Given the description of an element on the screen output the (x, y) to click on. 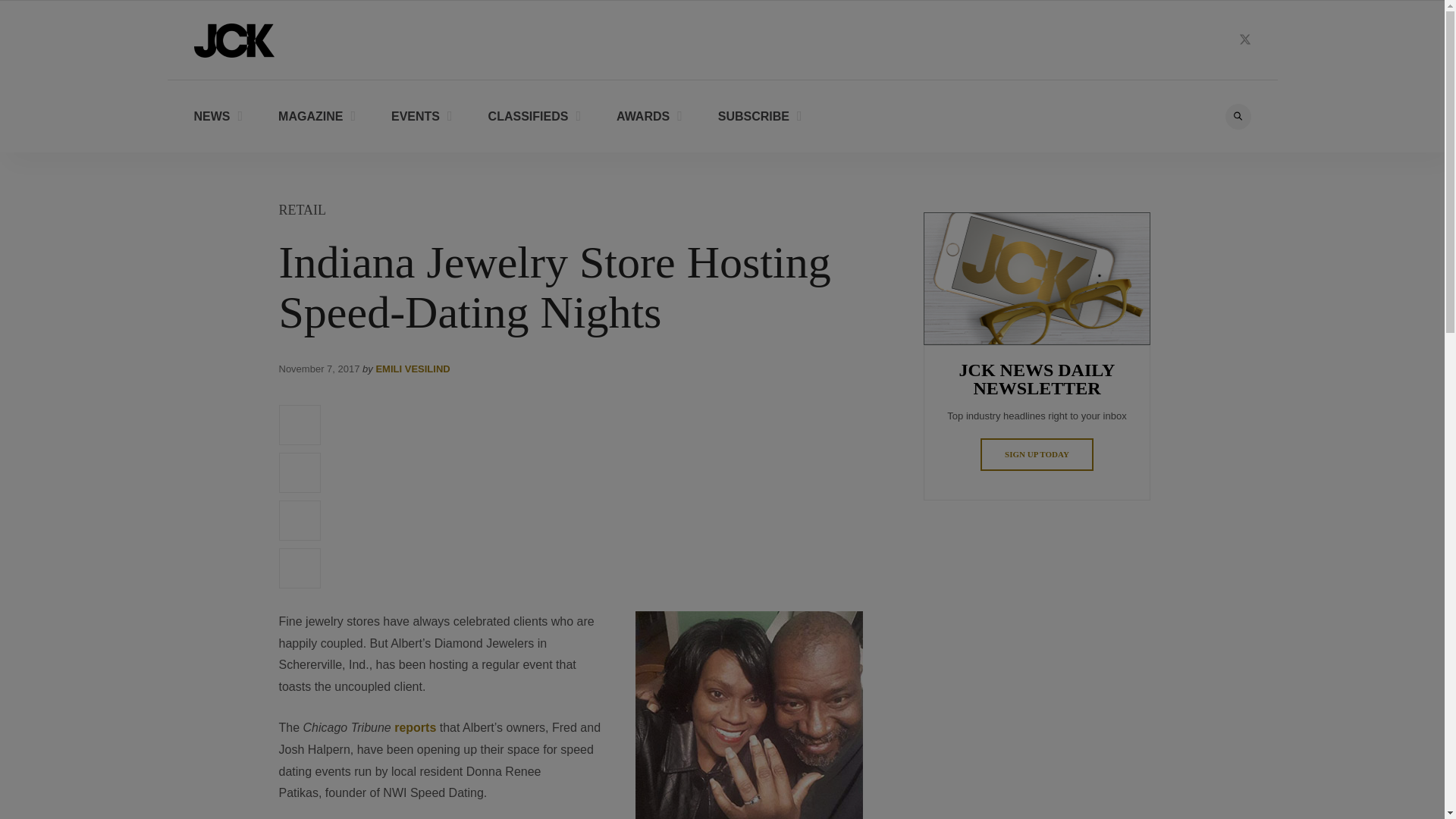
MAGAZINE (316, 116)
View all posts in Retail (302, 209)
JCK (234, 39)
